Given the description of an element on the screen output the (x, y) to click on. 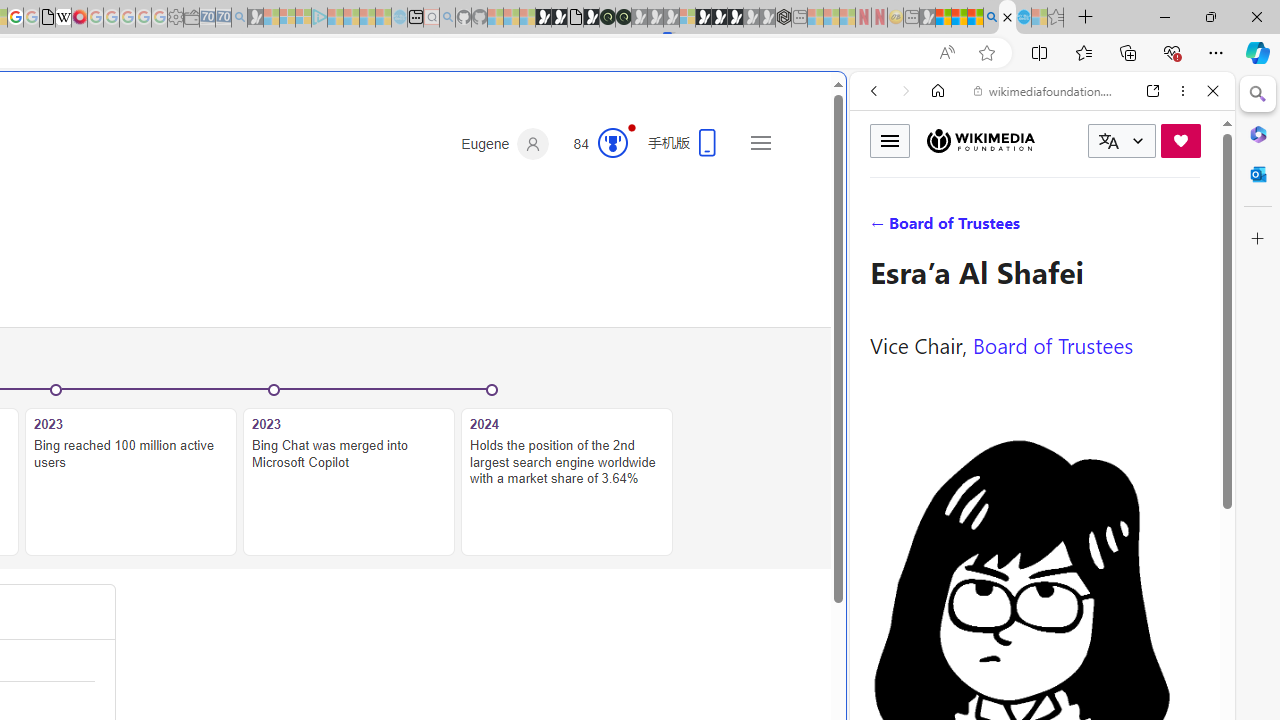
MSN - Sleeping (927, 17)
Donate now (1180, 140)
CURRENT LANGUAGE: (1121, 141)
Tabs you've opened (276, 265)
Wikimedia Foundation (980, 140)
Settings and quick links (760, 142)
Web scope (882, 180)
